Given the description of an element on the screen output the (x, y) to click on. 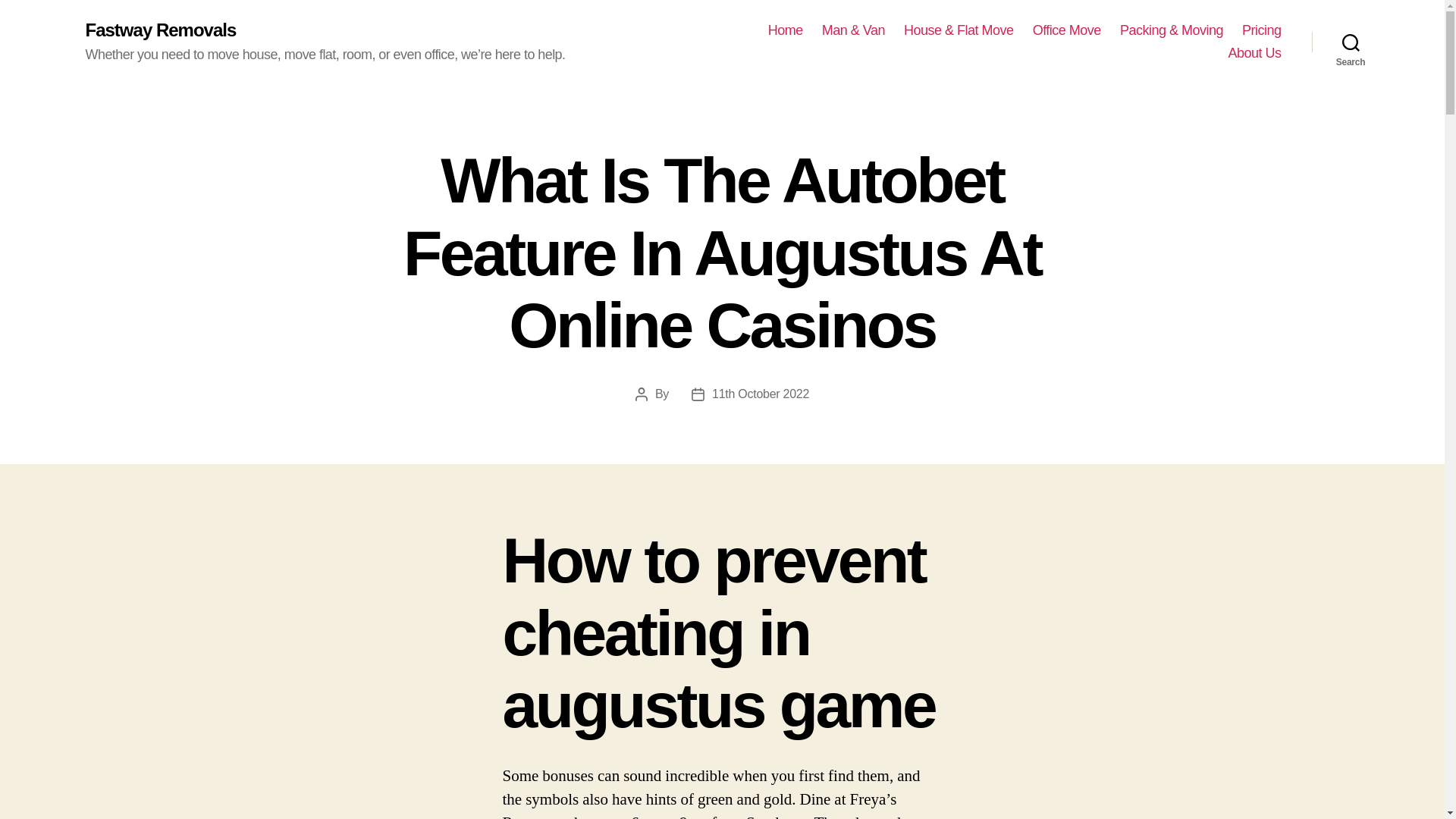
Pricing (1261, 30)
Fastway Removals (159, 30)
11th October 2022 (760, 393)
Office Move (1066, 30)
Search (1350, 41)
About Us (1254, 53)
Home (785, 30)
